Given the description of an element on the screen output the (x, y) to click on. 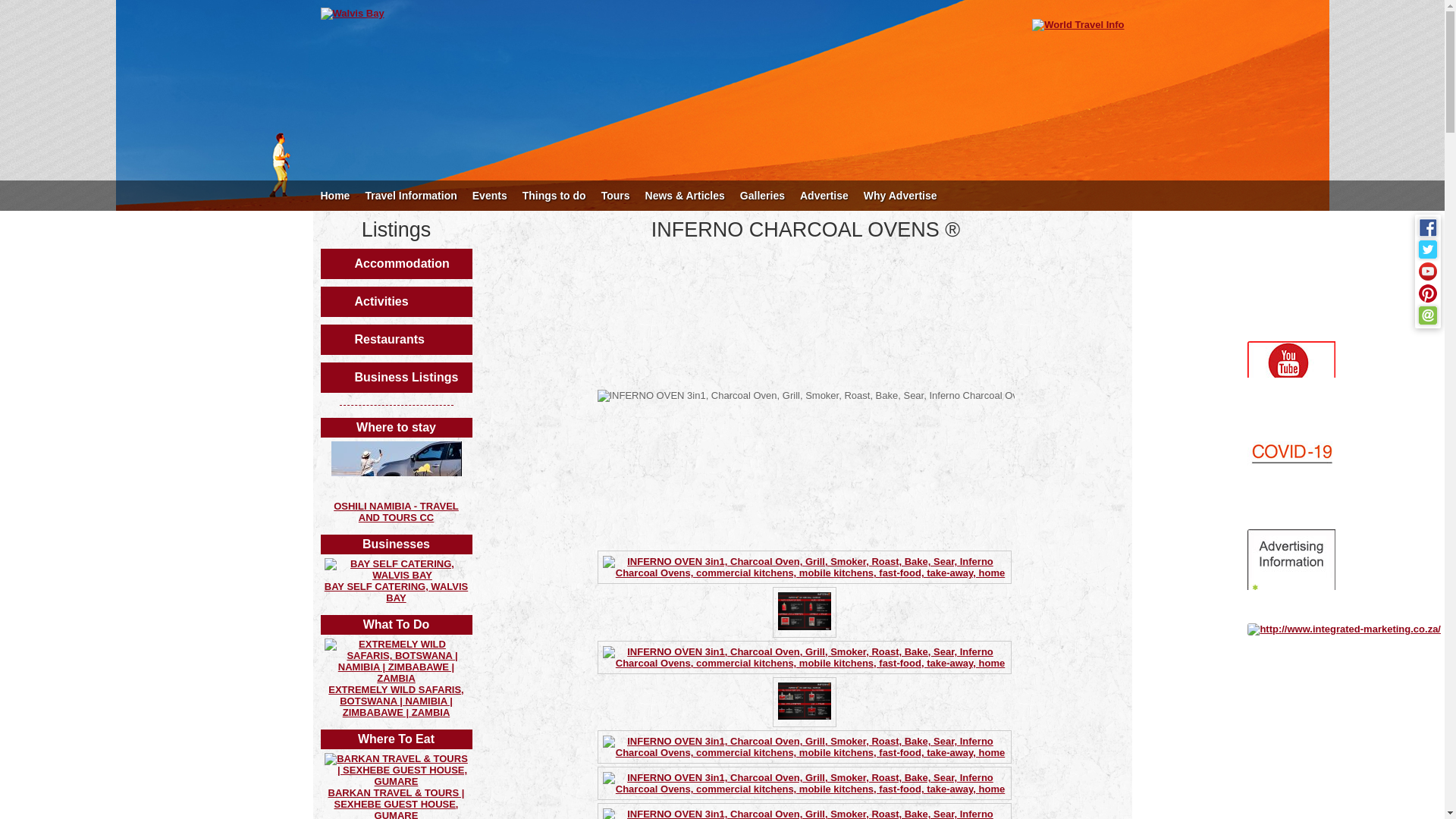
Twitter (1427, 249)
Restaurants (395, 339)
Activities (395, 301)
Email (1427, 315)
Events (489, 195)
YouTube (1427, 271)
Accommodation (395, 263)
Things to do (554, 195)
Home (334, 195)
Galleries (762, 195)
Why Advertise (900, 195)
Find us on Facebook (1427, 227)
Advertise (824, 195)
OSHILI NAMIBIA - TRAVEL AND TOURS CC (395, 511)
Pinterest (1427, 293)
